Given the description of an element on the screen output the (x, y) to click on. 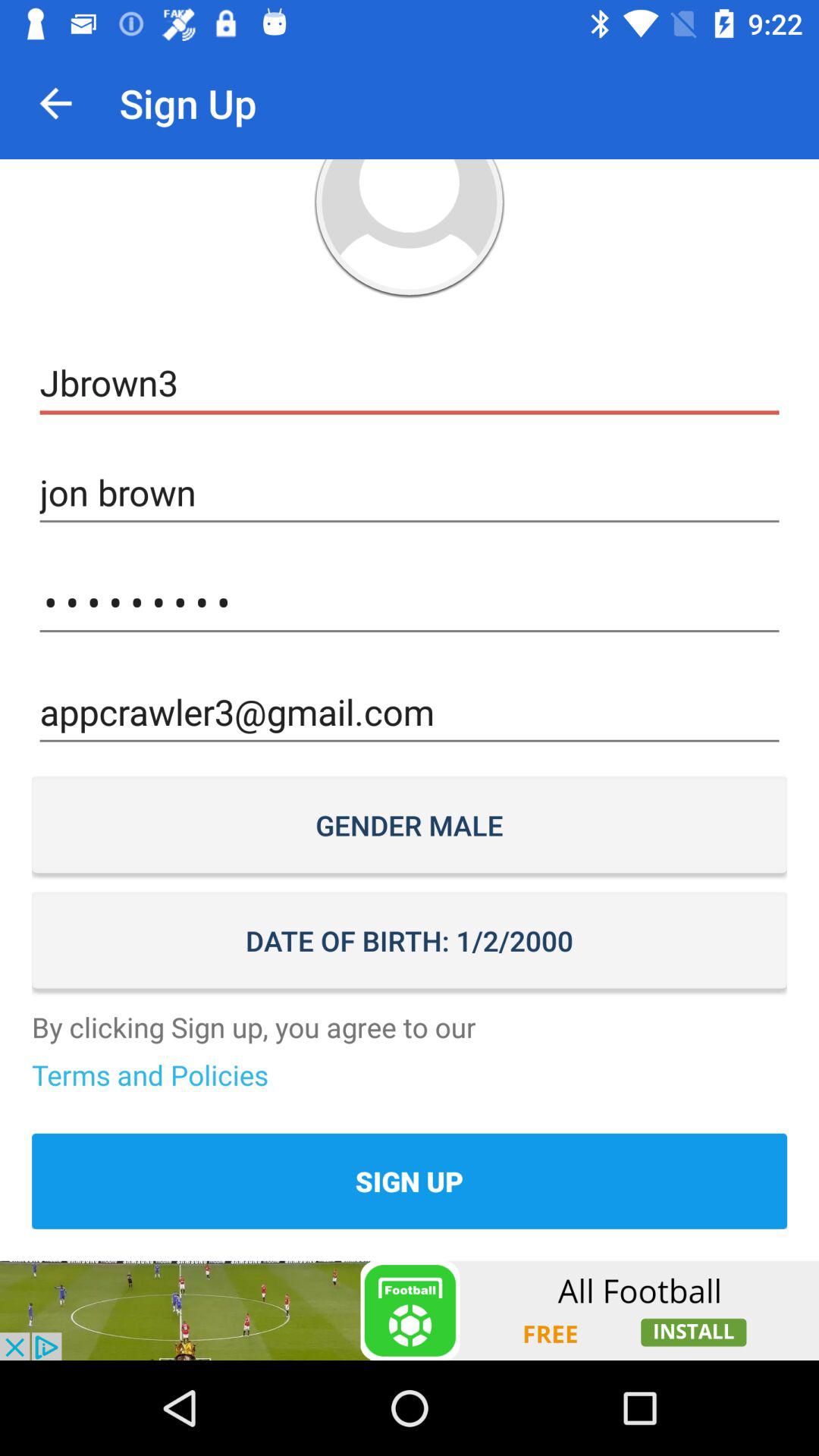
change user photo (409, 228)
